Given the description of an element on the screen output the (x, y) to click on. 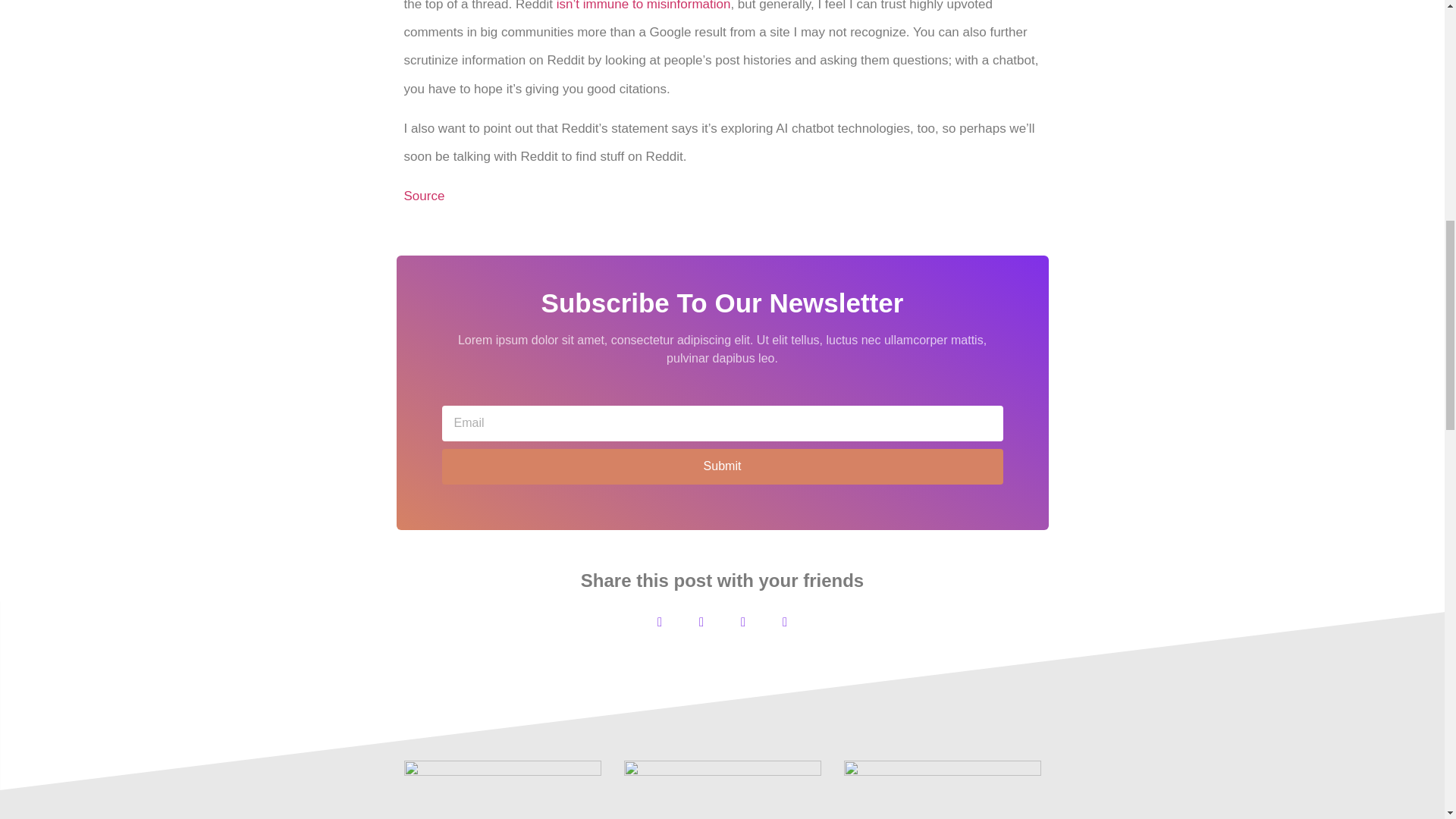
Source (423, 196)
Submit (722, 466)
to misinformation (680, 5)
